Given the description of an element on the screen output the (x, y) to click on. 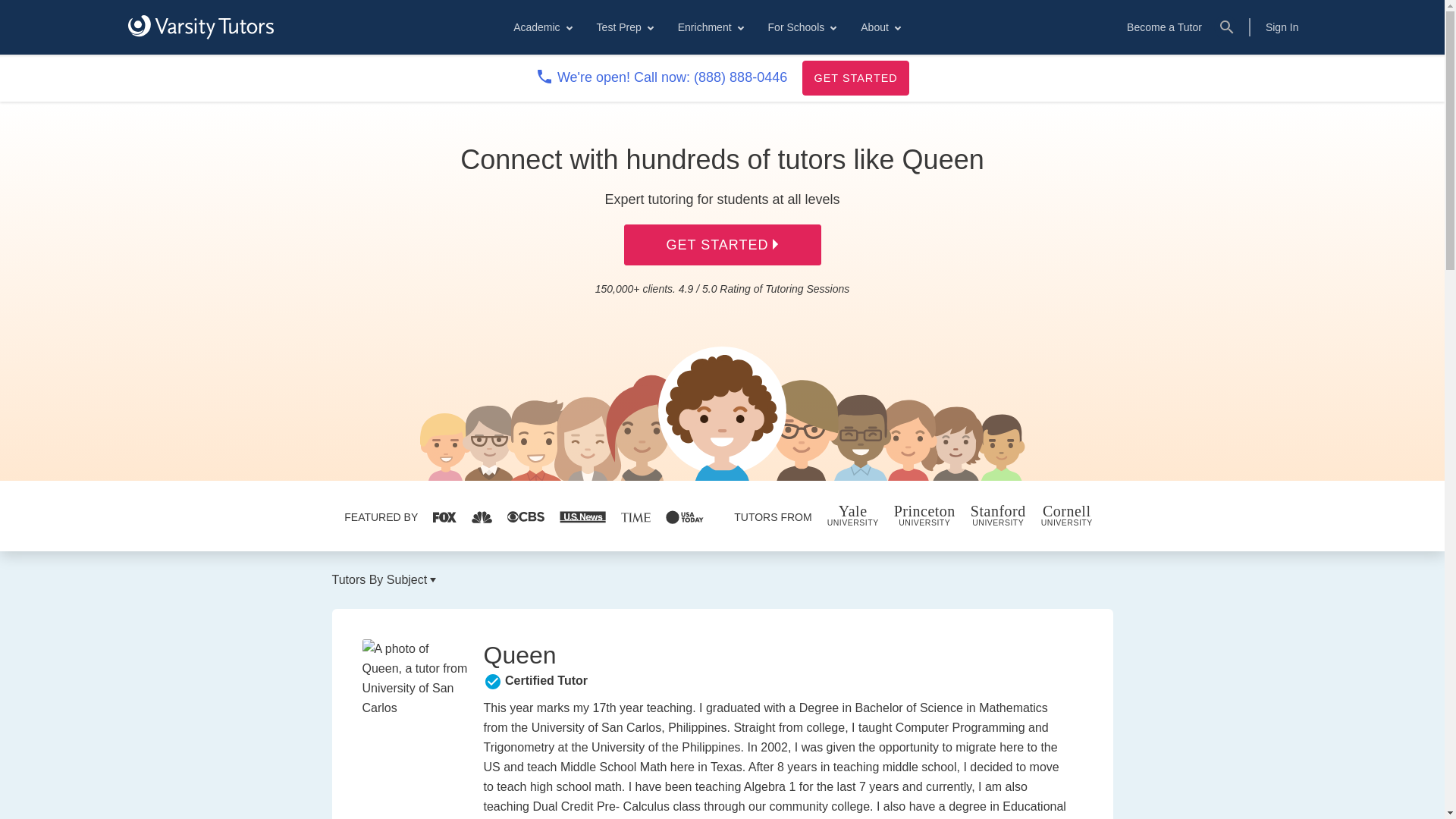
GET STARTED (855, 77)
Varsity Tutors (200, 26)
Academic (541, 27)
Varsity Tutors (200, 27)
